Given the description of an element on the screen output the (x, y) to click on. 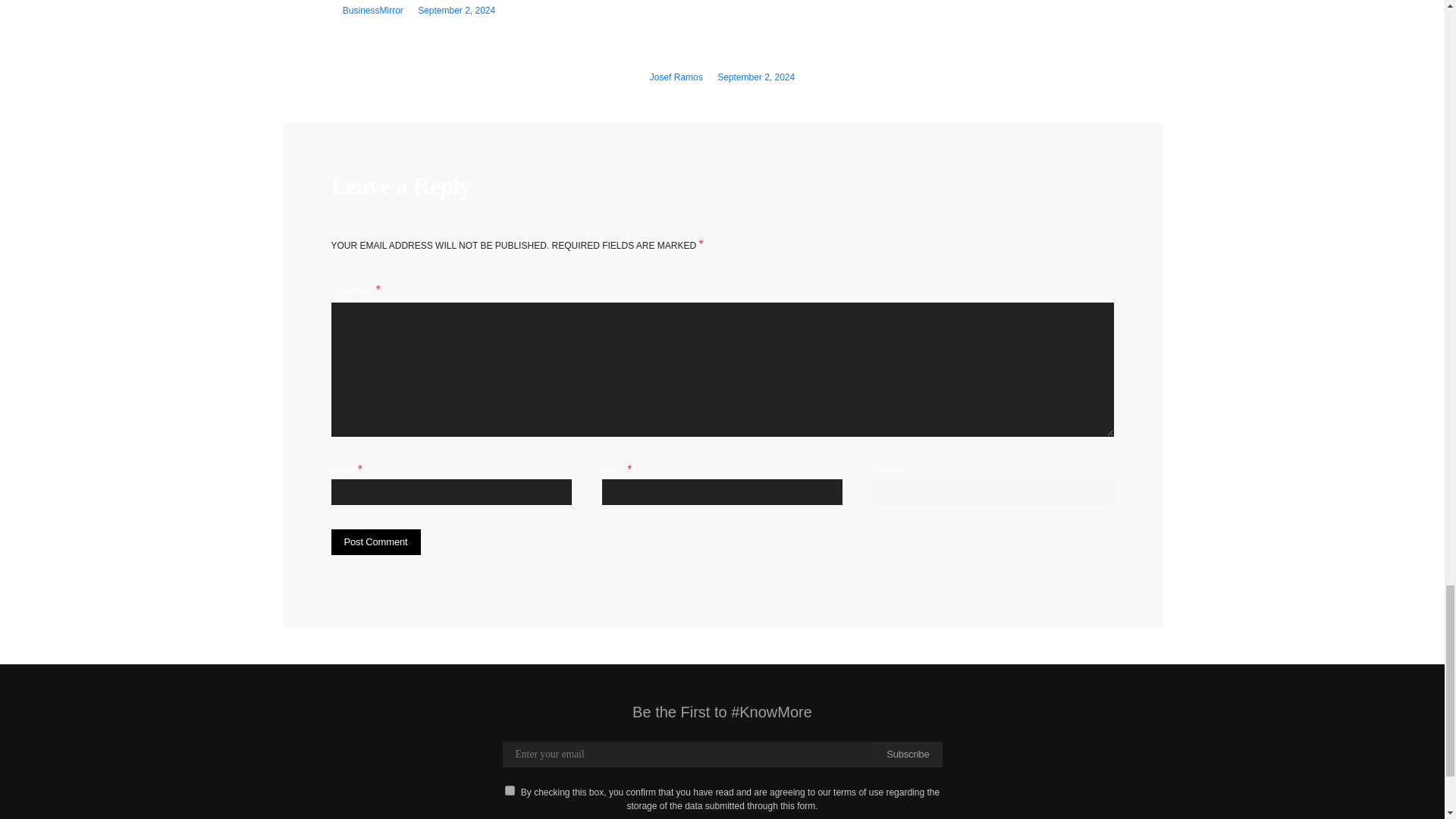
View all posts by Josef Ramos (676, 77)
on (510, 790)
Post Comment (375, 542)
View all posts by BusinessMirror (372, 9)
